Given the description of an element on the screen output the (x, y) to click on. 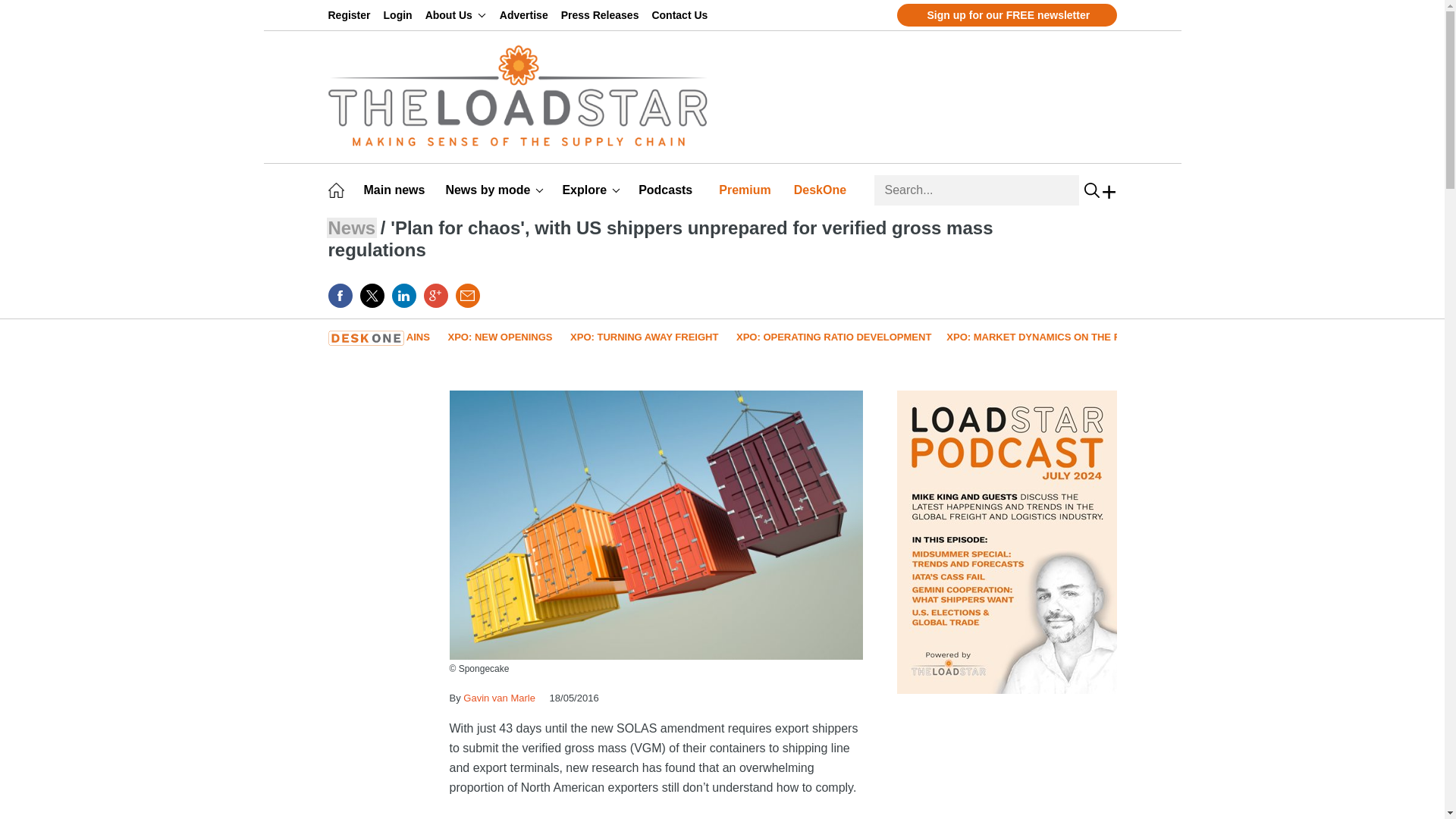
Contact Us (681, 15)
Loadstar Premium (747, 190)
Contact Us (681, 15)
Podcasts (668, 190)
Login (400, 15)
DeskOne (822, 190)
Sign up for our FREE newsletter (1006, 15)
News by mode (494, 190)
Login (400, 15)
Premium (747, 190)
DeskOne (822, 190)
Podcasts (668, 190)
Advertise (526, 15)
Advertise (526, 15)
Press Releases (602, 15)
